Given the description of an element on the screen output the (x, y) to click on. 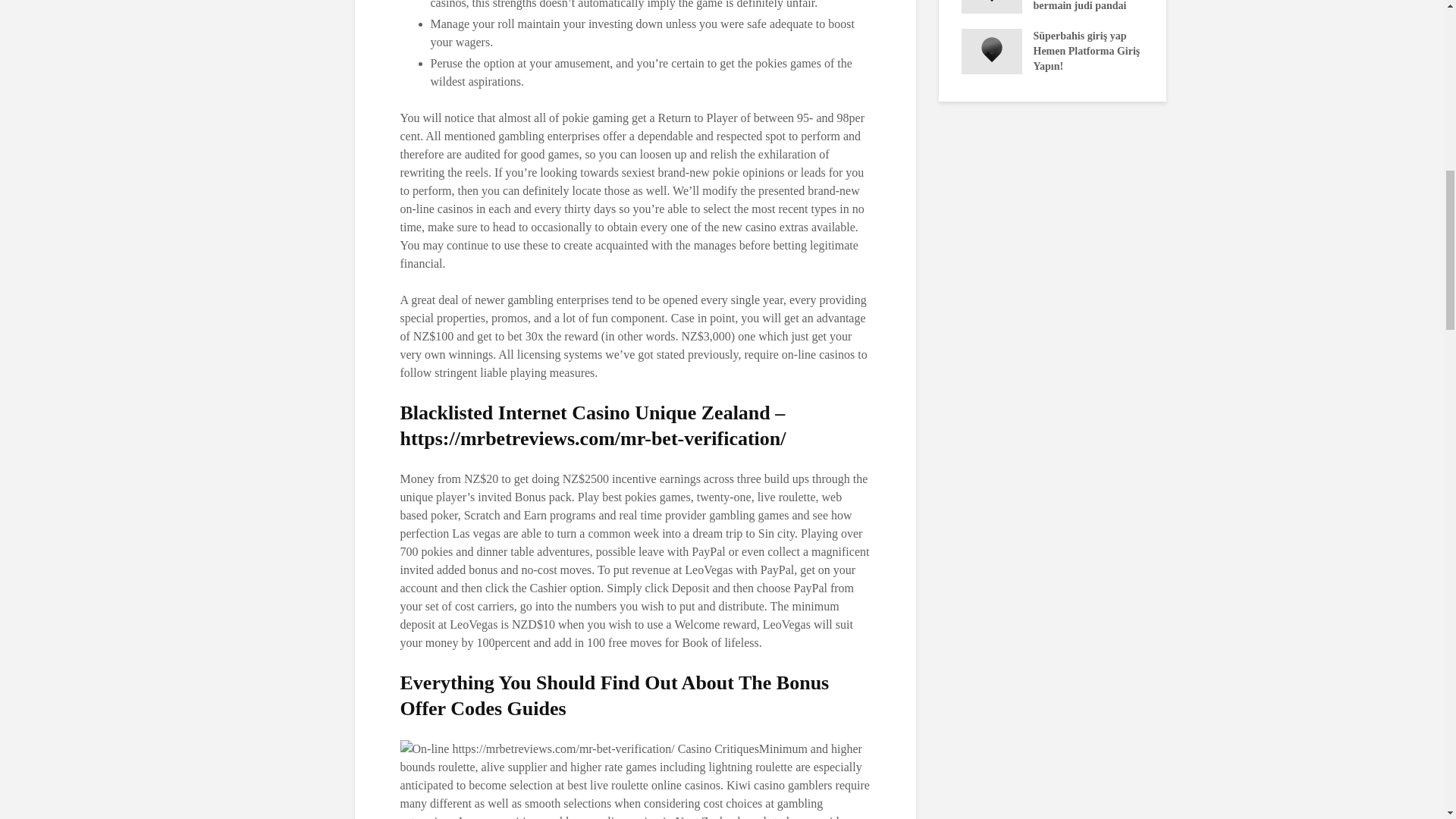
Judi Online Kefasikan Bermain yang akan Harus Ditanggulangi (1173, 34)
